Given the description of an element on the screen output the (x, y) to click on. 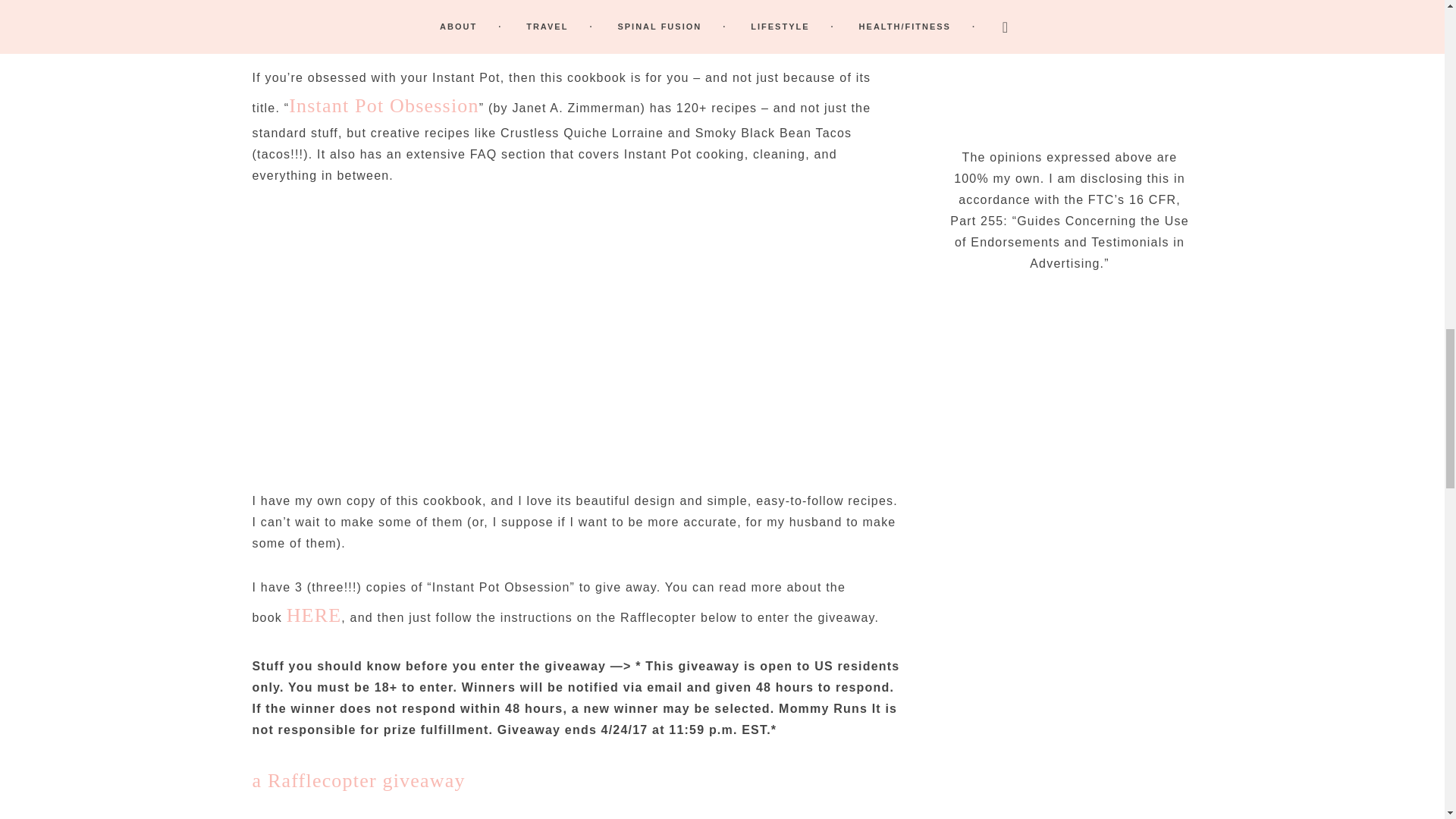
a Rafflecopter giveaway (357, 780)
Instant Pot Obsession (383, 106)
HERE (314, 615)
